Given the description of an element on the screen output the (x, y) to click on. 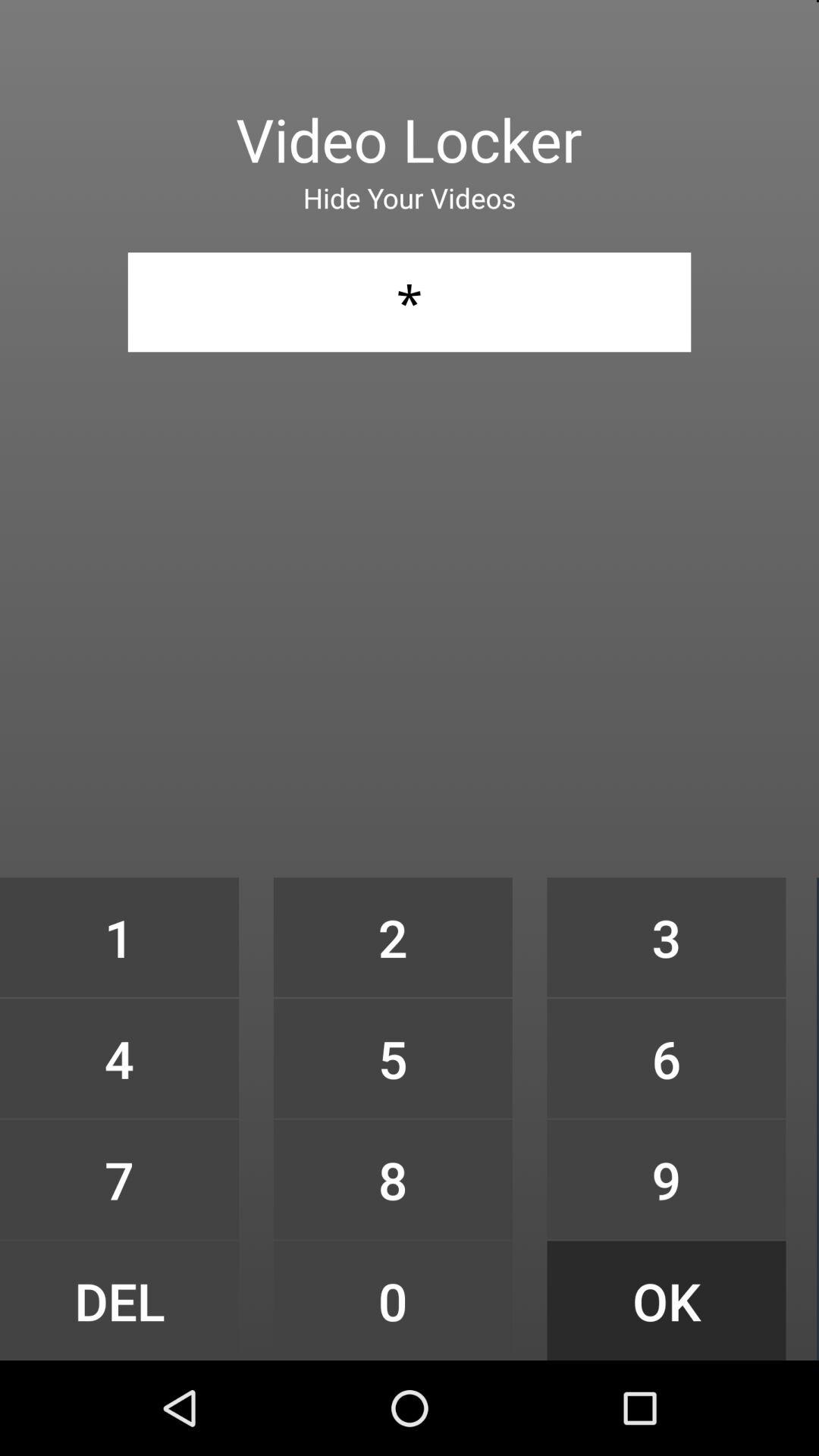
turn on icon to the left of the 5 (119, 1179)
